Given the description of an element on the screen output the (x, y) to click on. 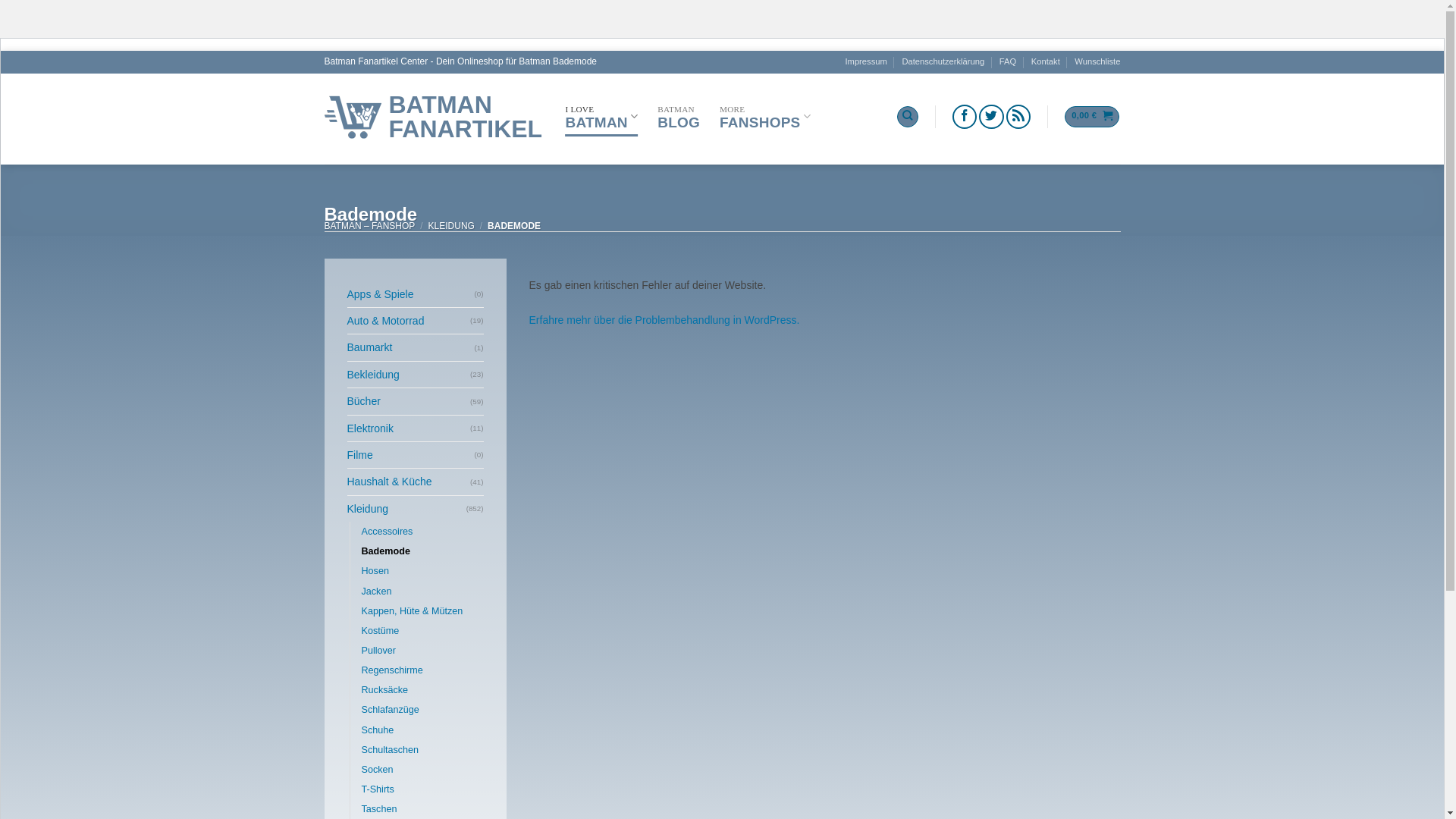
BATMAN FANARTIKEL Element type: text (433, 116)
Auto & Motorrad Element type: text (408, 320)
Accessoires Element type: text (386, 531)
Bekleidung Element type: text (408, 374)
Impressum Element type: text (865, 61)
Hosen Element type: text (374, 570)
Filme Element type: text (410, 454)
Wunschliste Element type: text (1097, 61)
Bademode Element type: text (384, 551)
Schuhe Element type: text (376, 730)
Abonniere RSS Element type: hover (1018, 116)
Kleidung Element type: text (406, 508)
Jacken Element type: text (375, 591)
Folge uns auf Twitter Element type: hover (991, 116)
Pullover Element type: text (377, 650)
Folge uns auf Facebook Element type: hover (964, 116)
Regenschirme Element type: text (391, 670)
KLEIDUNG Element type: text (451, 225)
Skip to content Element type: text (0, 50)
Kontakt Element type: text (1045, 61)
Socken Element type: text (376, 769)
FAQ Element type: text (1007, 61)
I LOVE
BATMAN Element type: text (601, 116)
Elektronik Element type: text (408, 428)
BATMAN
BLOG Element type: text (678, 116)
Baumarkt Element type: text (410, 347)
Schultaschen Element type: text (389, 749)
MORE
FANSHOPS Element type: text (764, 116)
Apps & Spiele Element type: text (410, 294)
T-Shirts Element type: text (376, 789)
